Given the description of an element on the screen output the (x, y) to click on. 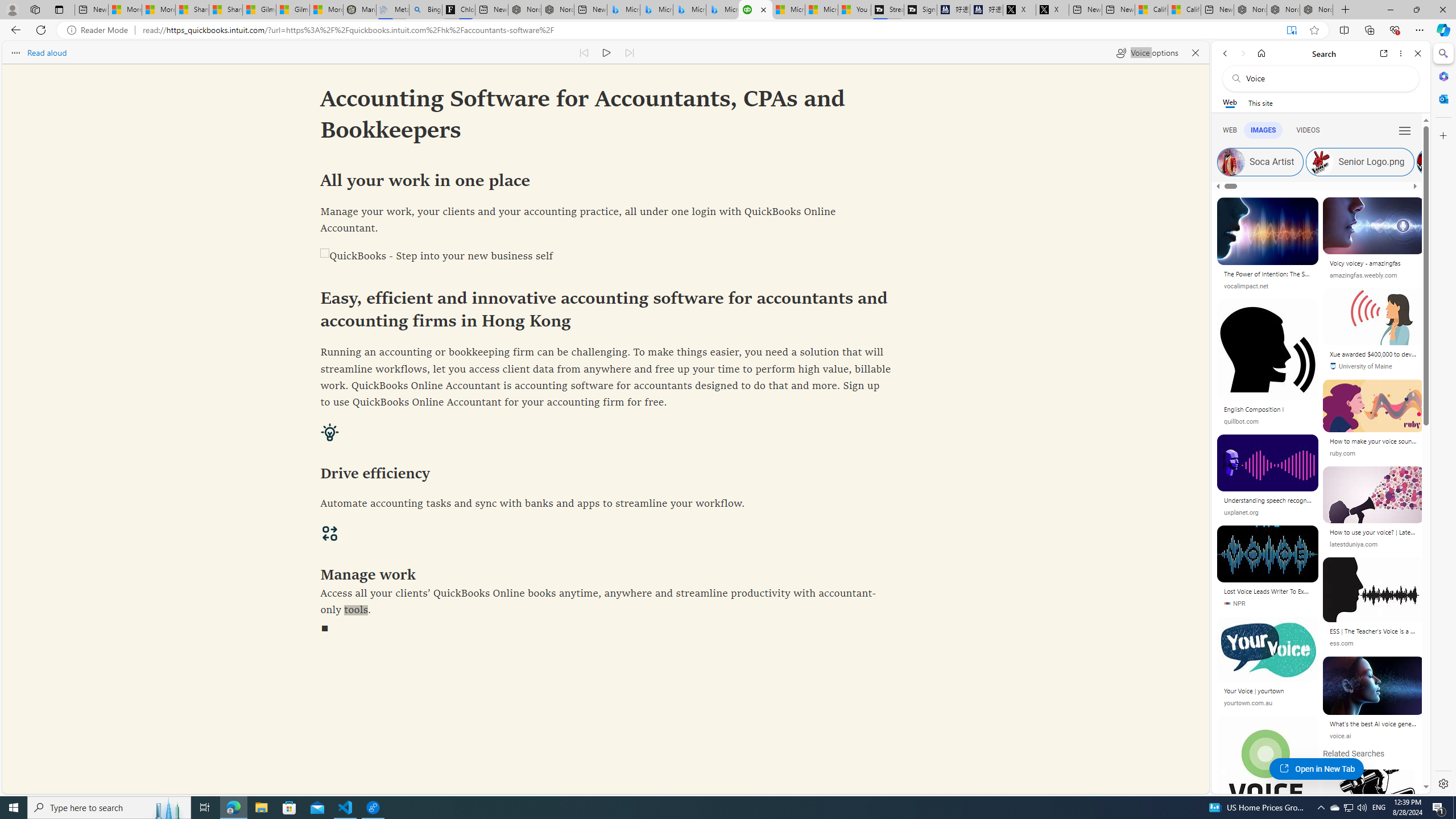
Kids Logo (1430, 162)
IMAGES (1262, 130)
Gilma and Hector both pose tropical trouble for Hawaii (292, 9)
ess.com (1341, 643)
ruby.com (1342, 453)
Voicy voicey - amazingfasamazingfas.weebly.com (1373, 242)
Voicy voicey - amazingfas (1372, 264)
